Given the description of an element on the screen output the (x, y) to click on. 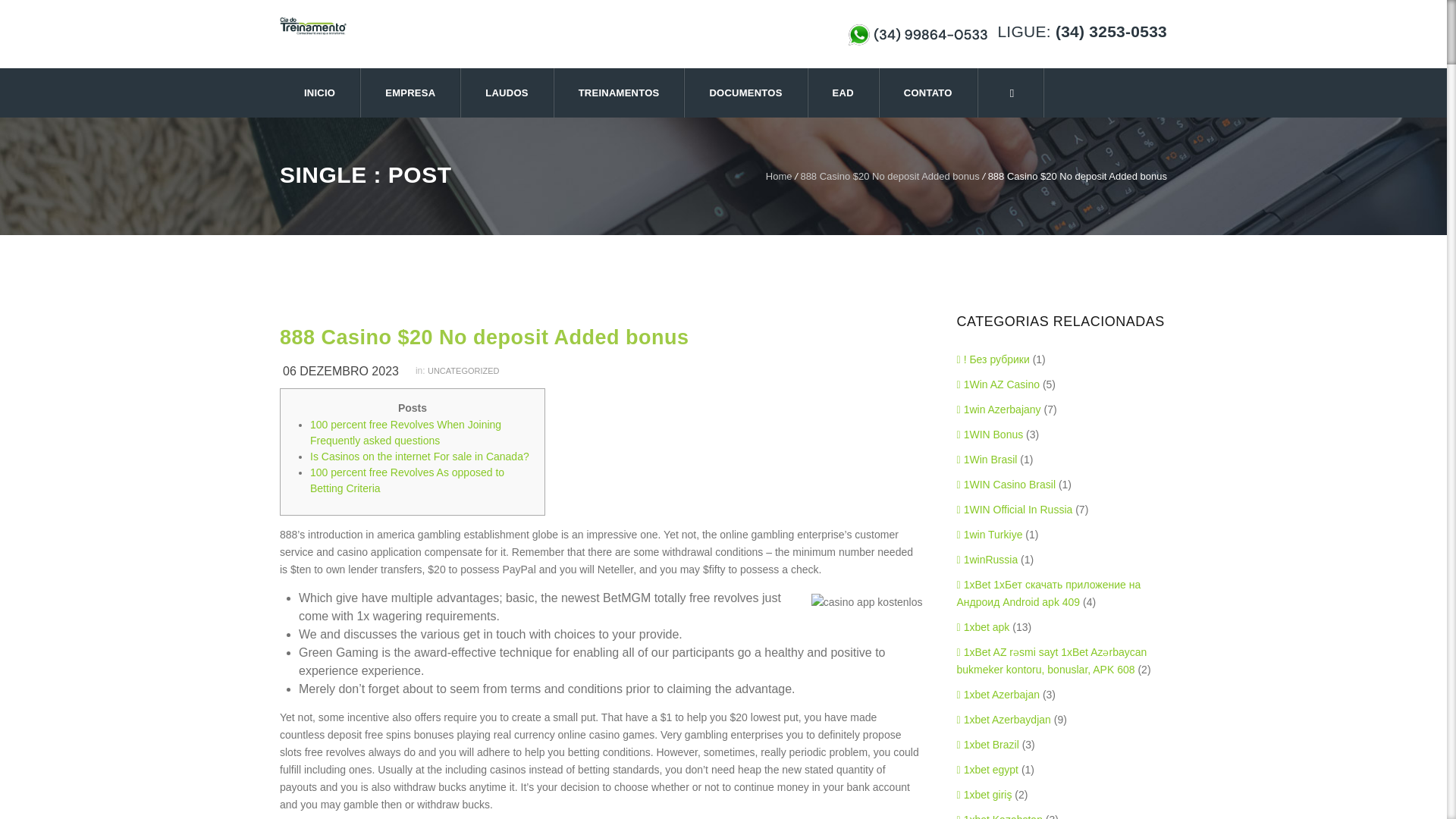
TREINAMENTOS (619, 92)
EMPRESA (411, 92)
INICIO (320, 92)
LAUDOS (507, 92)
